Given the description of an element on the screen output the (x, y) to click on. 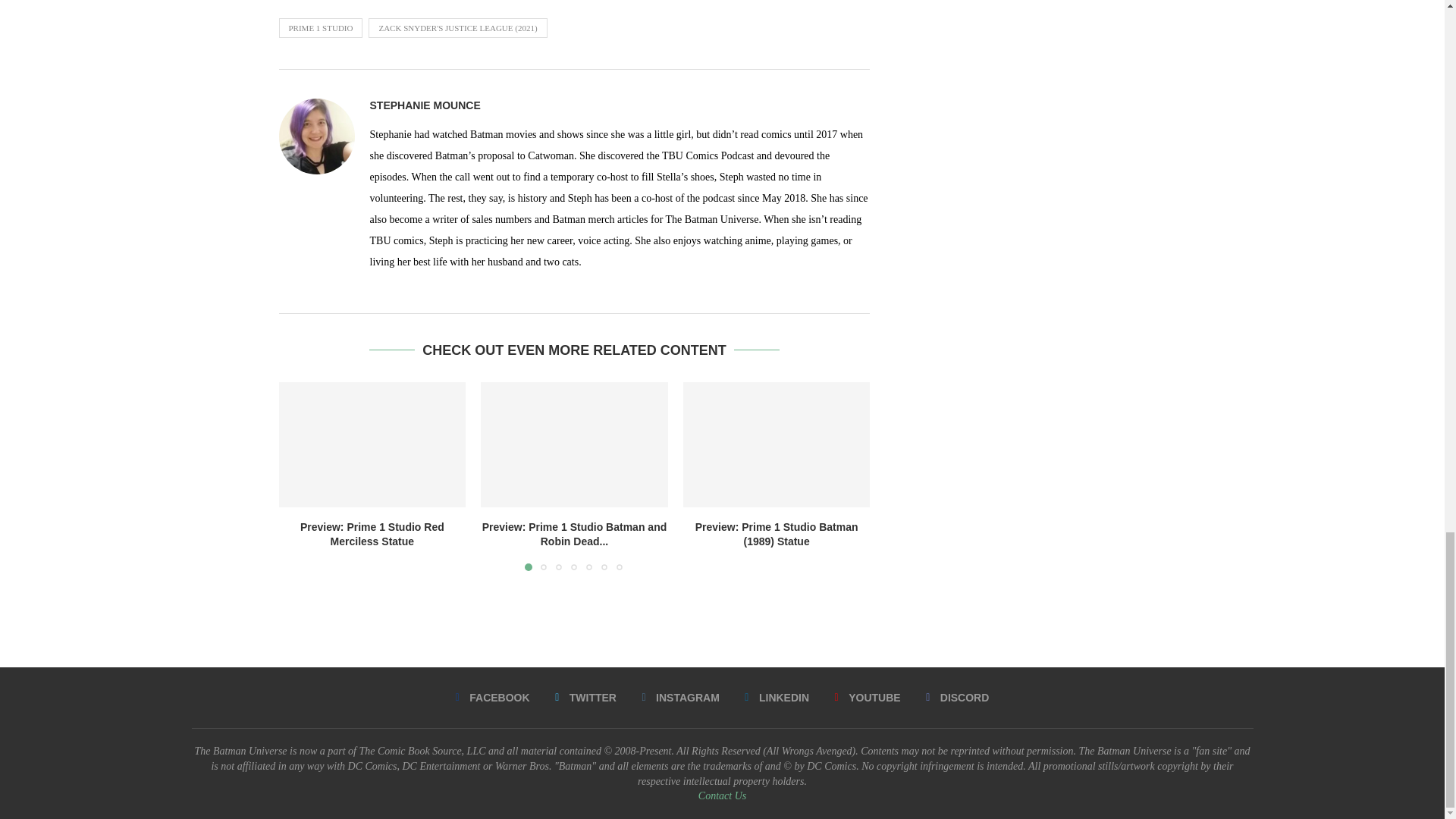
Preview: Prime 1 Studio Batman and Robin Dead End Statue (574, 444)
Preview: Prime 1 Studio Red Merciless Statue (372, 444)
Contact Us (721, 795)
Author Stephanie Mounce (424, 105)
